Given the description of an element on the screen output the (x, y) to click on. 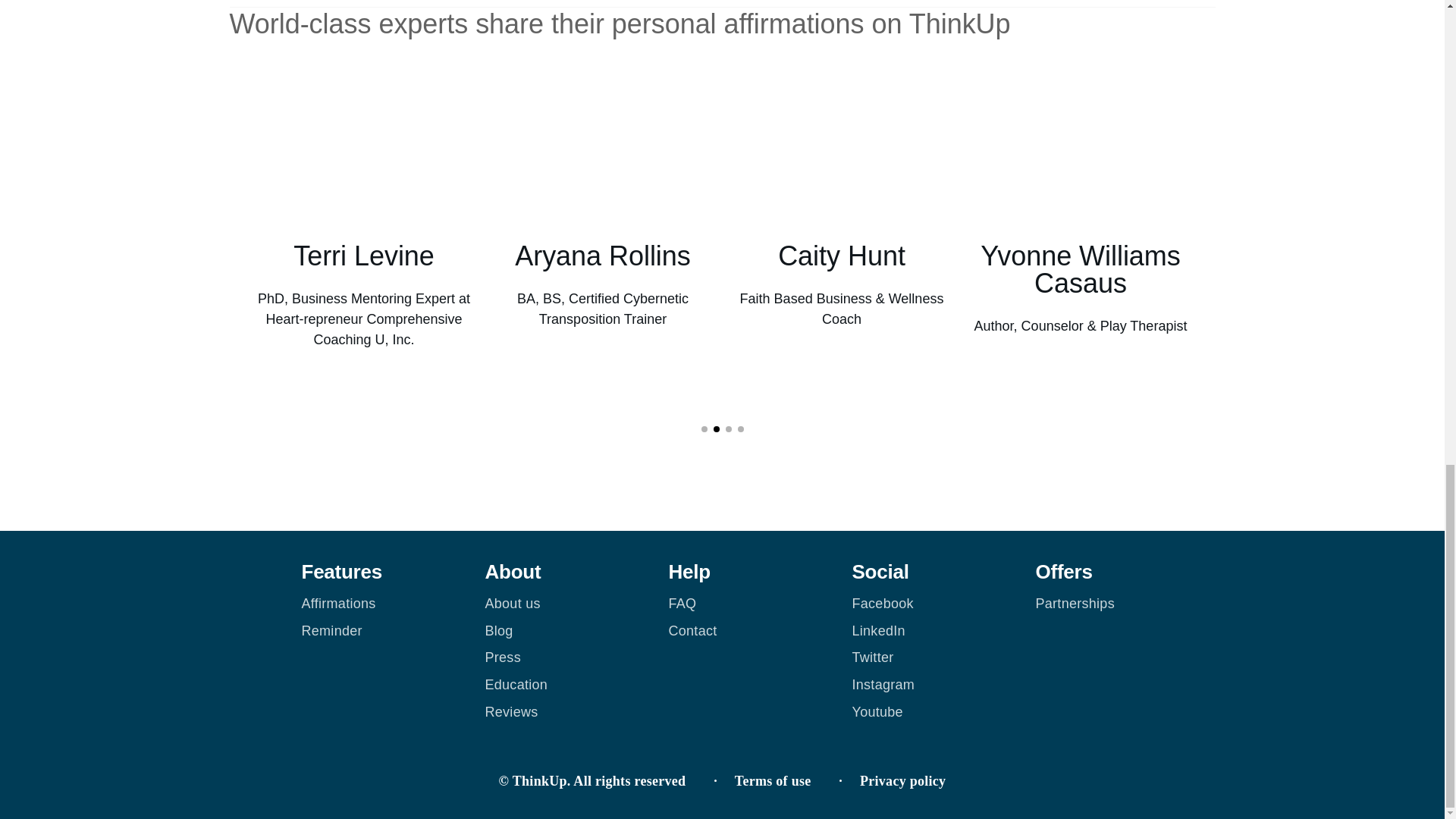
4 (739, 428)
Contact (692, 630)
Reviews (511, 711)
2 (716, 428)
Facebook (882, 603)
3 (727, 428)
Privacy policy (902, 780)
Blog (498, 630)
Reminder (331, 630)
Twitter (872, 657)
1 (703, 428)
Press (502, 657)
Partnerships (1075, 603)
Terms of use (772, 780)
About us (512, 603)
